Given the description of an element on the screen output the (x, y) to click on. 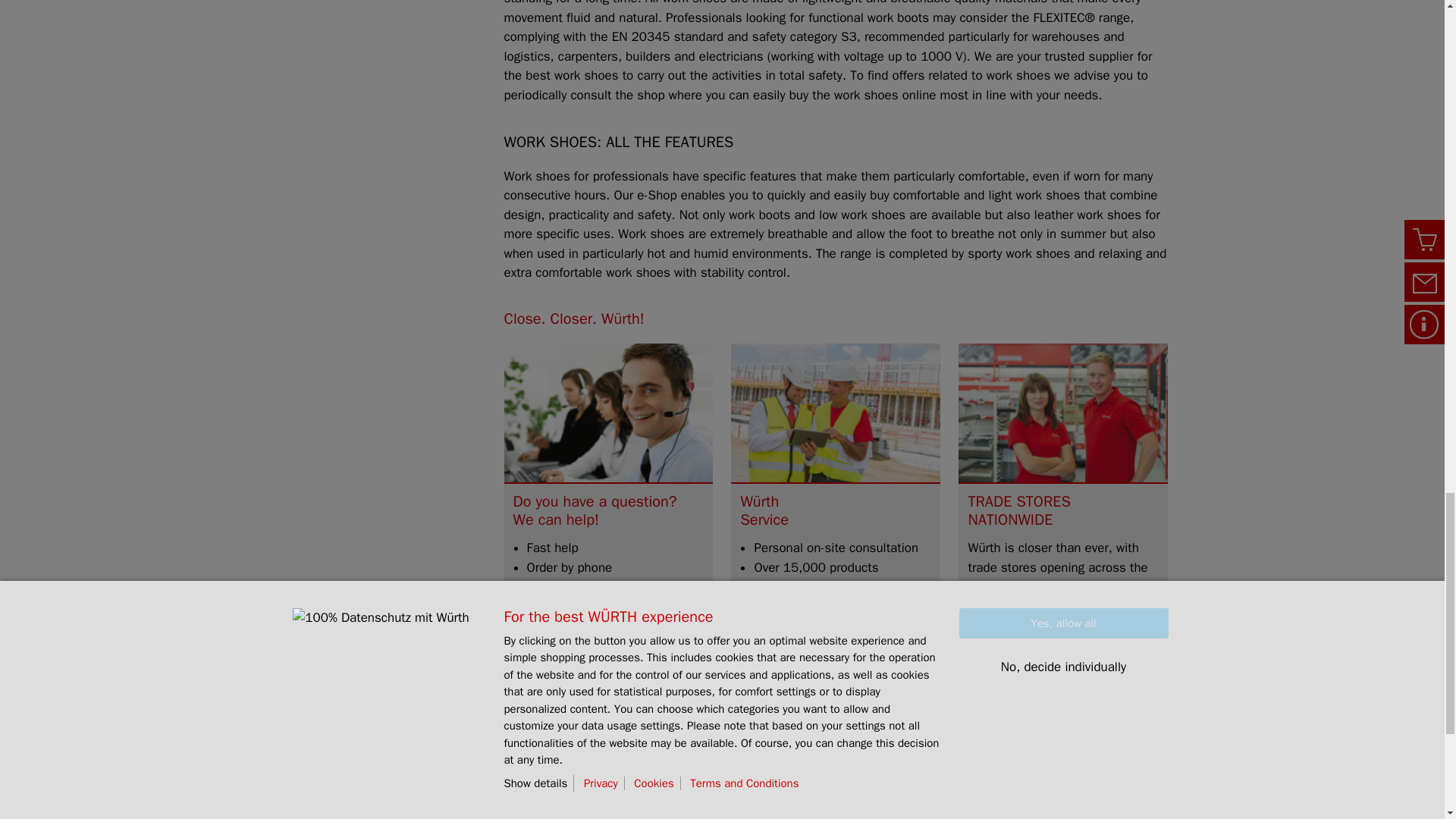
Bild 1 (1062, 412)
Bild 1 (608, 412)
Bild 1 (835, 412)
